Given the description of an element on the screen output the (x, y) to click on. 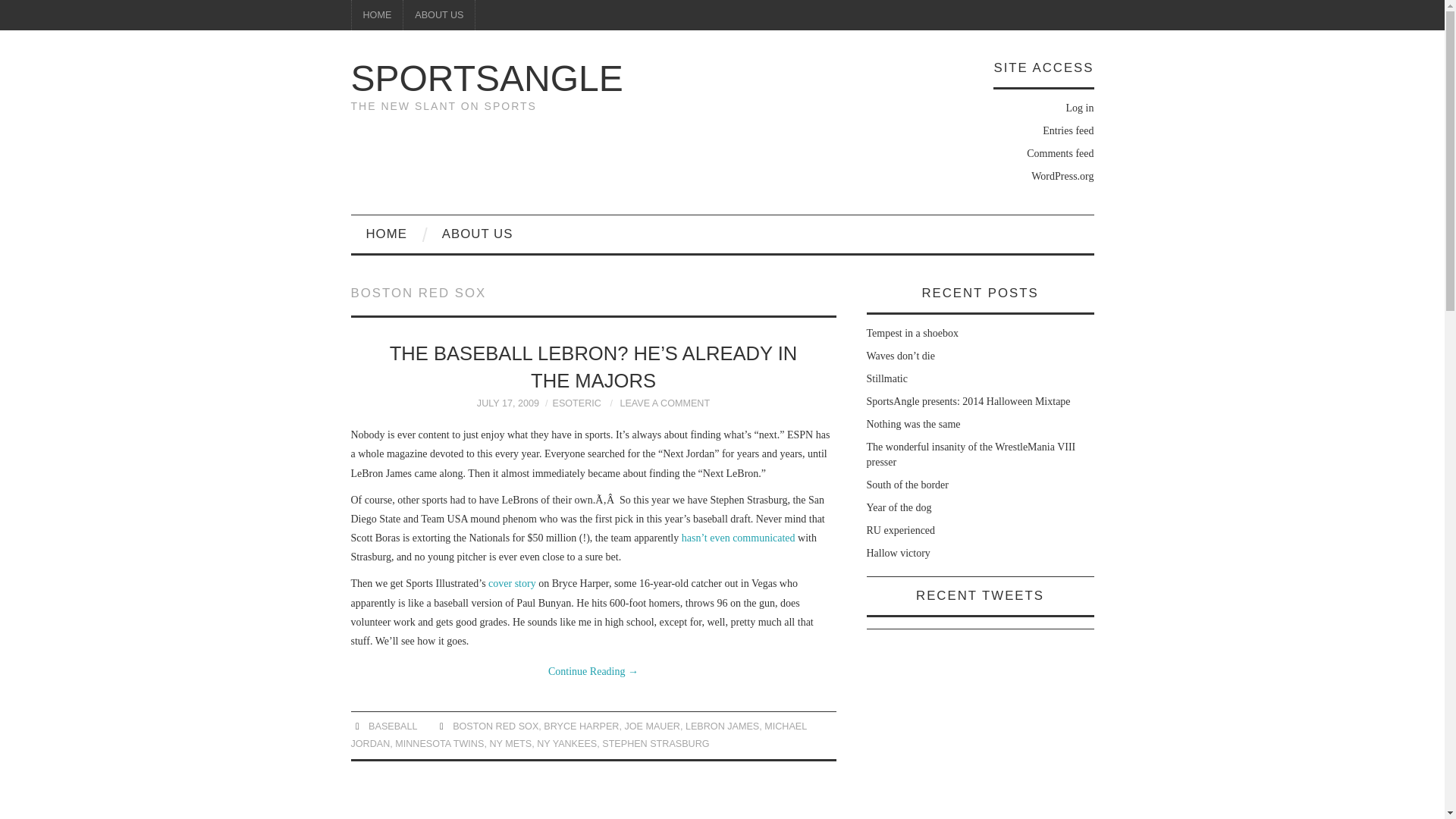
HOME (377, 15)
Entries feed (1067, 130)
Nothing was the same (912, 423)
NY METS (510, 743)
BRYCE HARPER (580, 726)
South of the border (906, 484)
SPORTSANGLE (486, 78)
BASEBALL (392, 726)
Stillmatic (886, 378)
Hallow victory (898, 552)
WordPress.org (1061, 175)
BOSTON RED SOX (495, 726)
Log in (1079, 107)
Year of the dog (898, 507)
JULY 17, 2009 (507, 403)
